Given the description of an element on the screen output the (x, y) to click on. 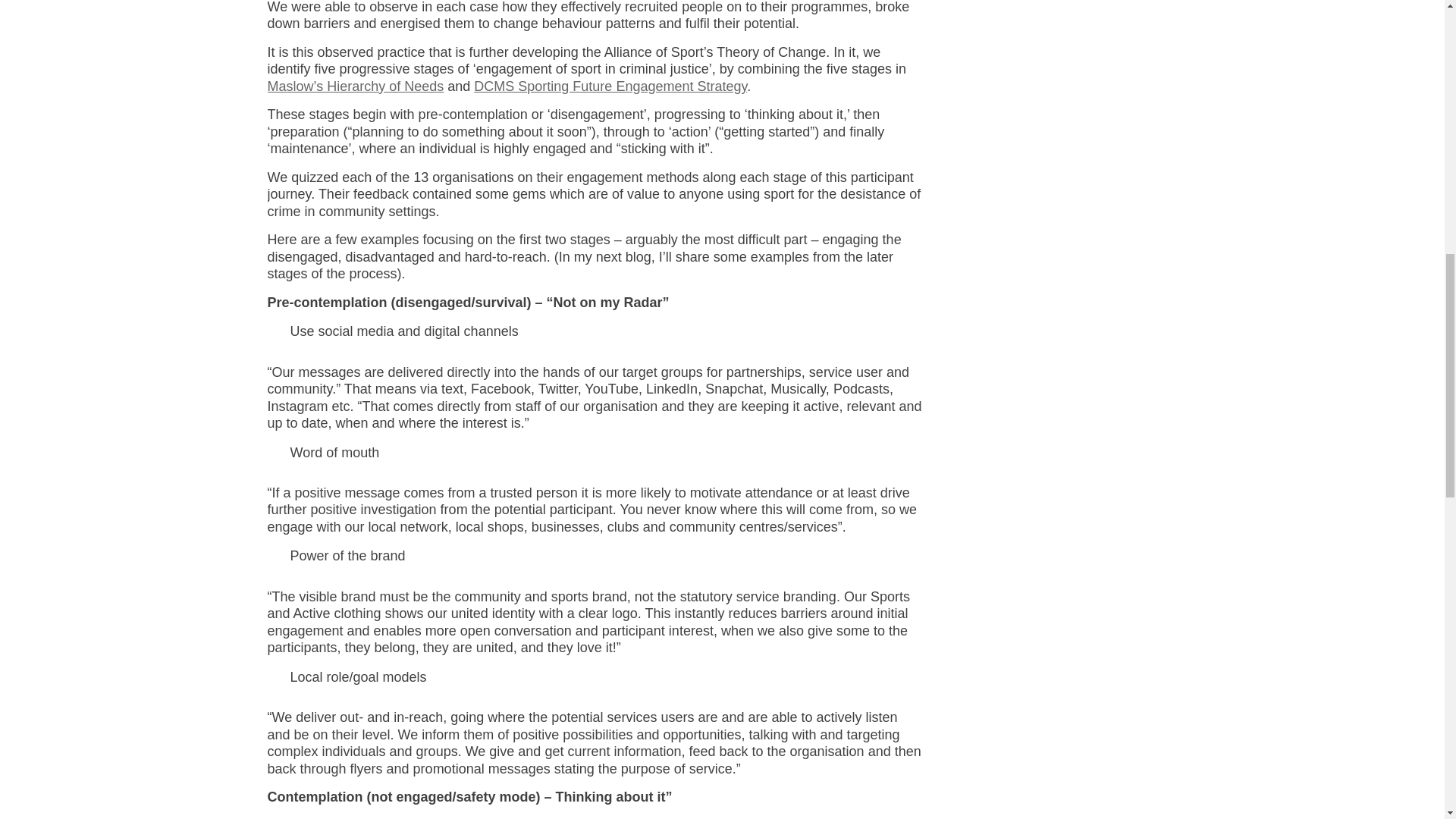
DCMS Sporting Future Engagement Strategy (610, 86)
